Given the description of an element on the screen output the (x, y) to click on. 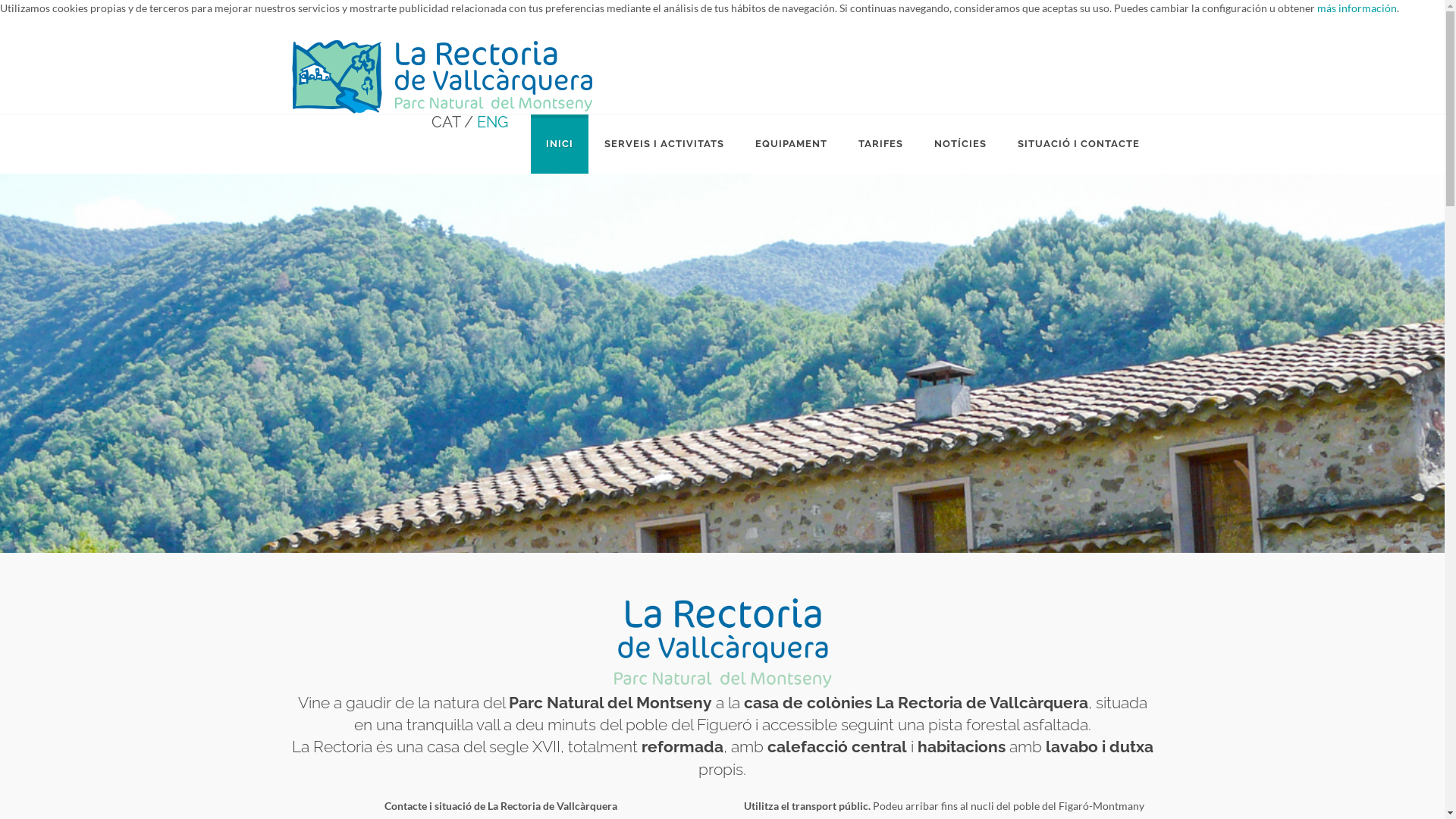
SERVEIS I ACTIVITATS Element type: text (663, 143)
TARIFES Element type: text (880, 143)
ENG Element type: text (491, 121)
INICI Element type: text (559, 143)
Aceptar Element type: text (1415, 46)
EQUIPAMENT Element type: text (791, 143)
